Given the description of an element on the screen output the (x, y) to click on. 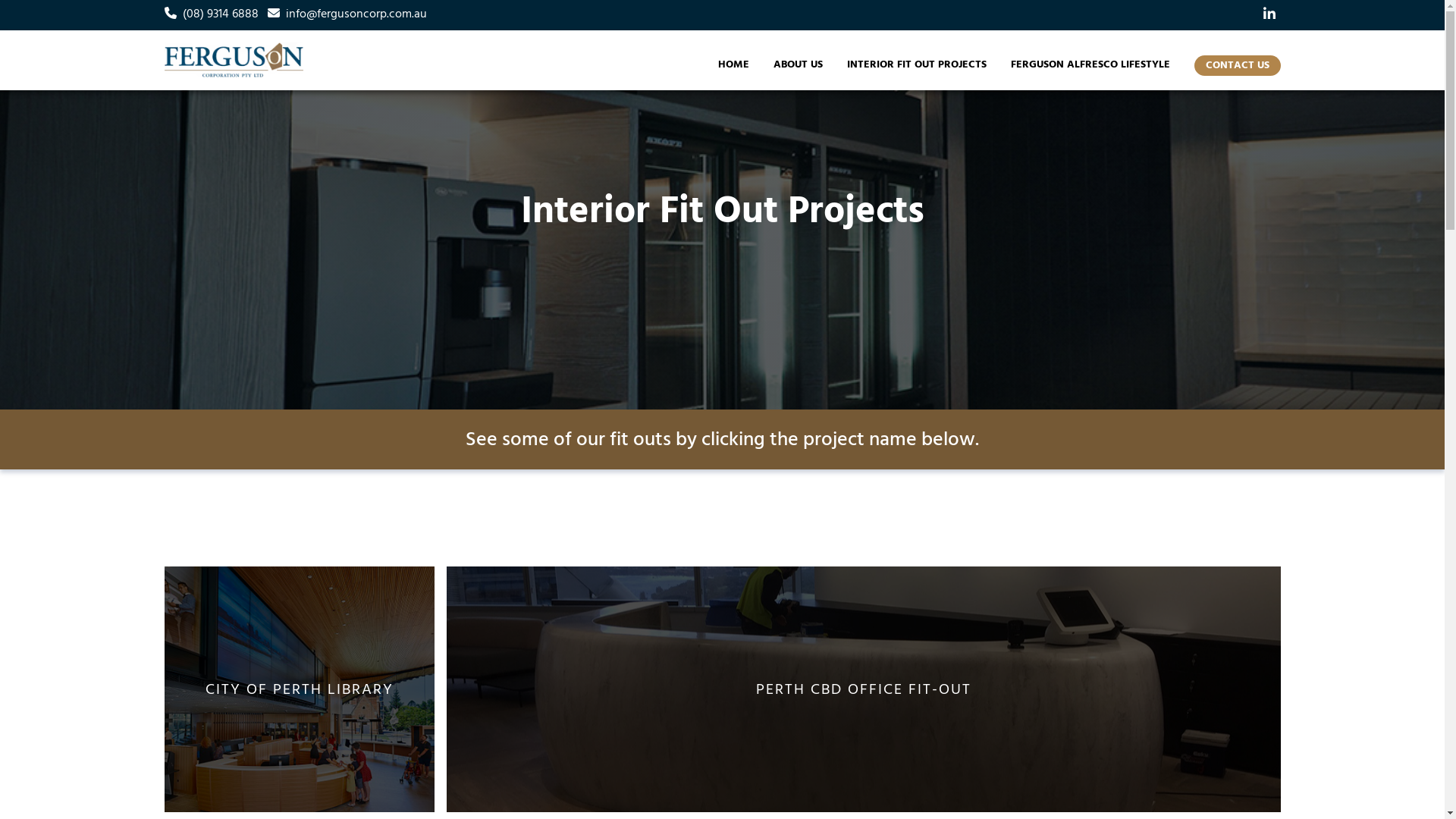
INTERIOR FIT OUT PROJECTS Element type: text (915, 64)
FERGUSON ALFRESCO LIFESTYLE Element type: text (1089, 64)
Our LinkedIn page Element type: hover (1268, 14)
PERTH CBD OFFICE FIT-OUT Element type: text (862, 689)
info@fergusoncorp.com.au Element type: text (355, 13)
CITY OF PERTH LIBRARY Element type: text (298, 689)
CONTACT US Element type: text (1237, 64)
HOME Element type: text (732, 64)
(08) 9314 6888 Element type: text (219, 13)
ABOUT US Element type: text (797, 64)
